Given the description of an element on the screen output the (x, y) to click on. 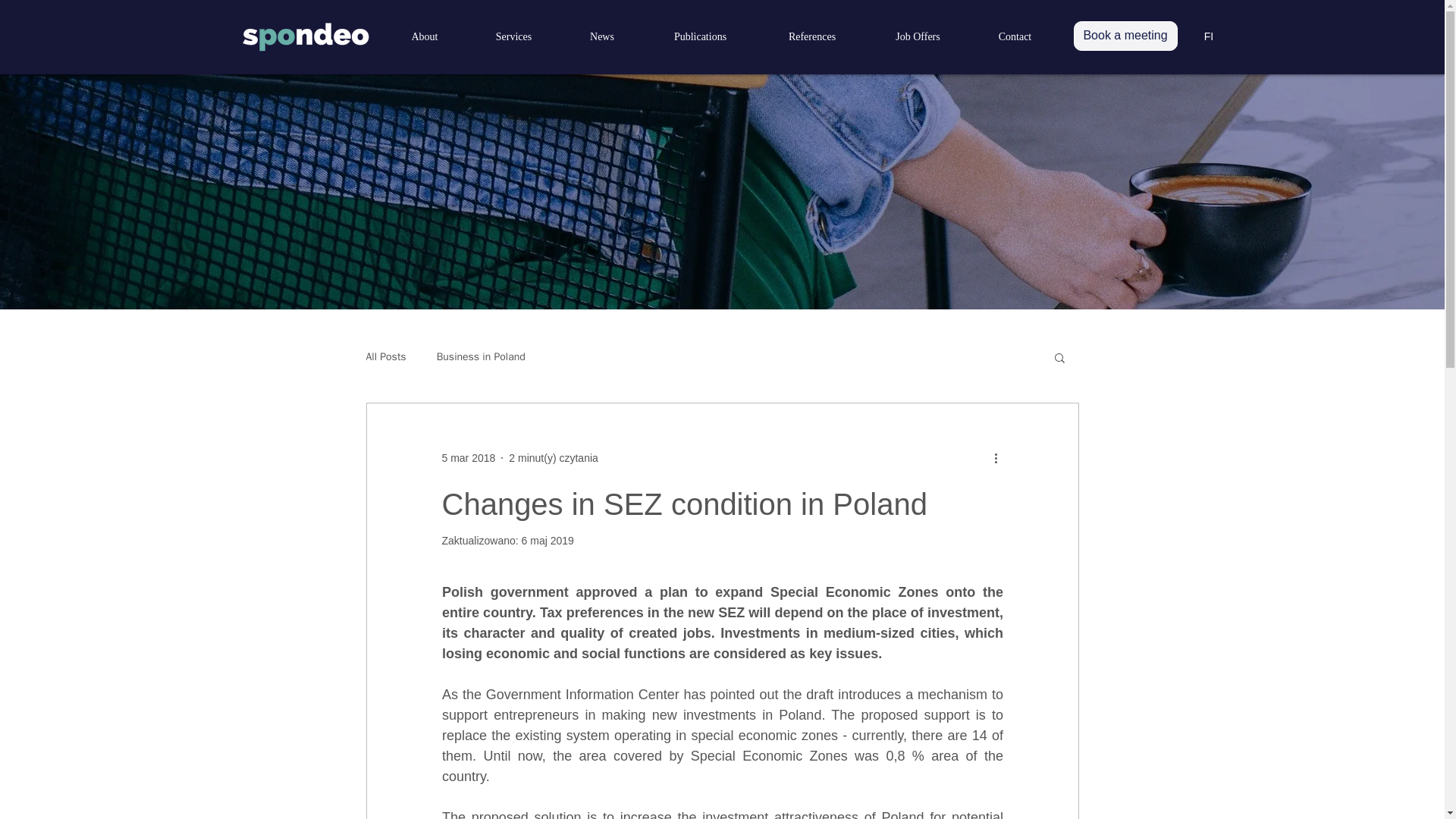
Contact (1014, 37)
References (875, 38)
All Posts (385, 356)
Book a meeting (1125, 35)
Job Offers (917, 37)
Publications (700, 37)
About (424, 37)
News (707, 38)
FI (1208, 35)
References (812, 37)
Publications (782, 38)
5 mar 2018 (468, 458)
Spondeo logo (306, 37)
News (601, 37)
Job Offers (962, 38)
